Given the description of an element on the screen output the (x, y) to click on. 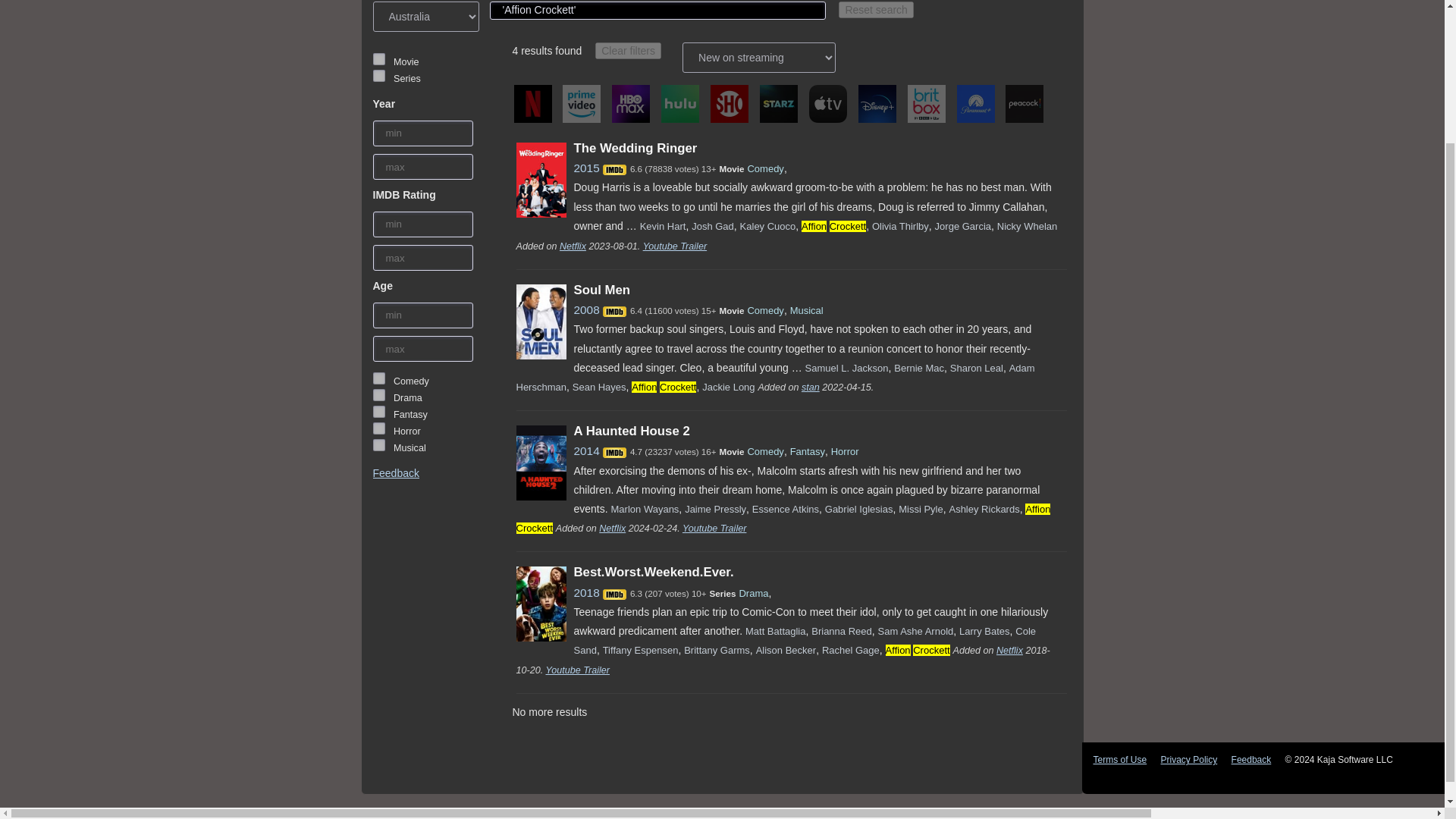
2015 (585, 167)
Musical (378, 444)
Youtube Trailer (674, 245)
Feedback (395, 472)
Soul Men (601, 289)
Kaley Cuoco (767, 225)
Kevin Hart (662, 225)
2008 (585, 309)
Drama (378, 395)
Jorge Garcia (962, 225)
